Given the description of an element on the screen output the (x, y) to click on. 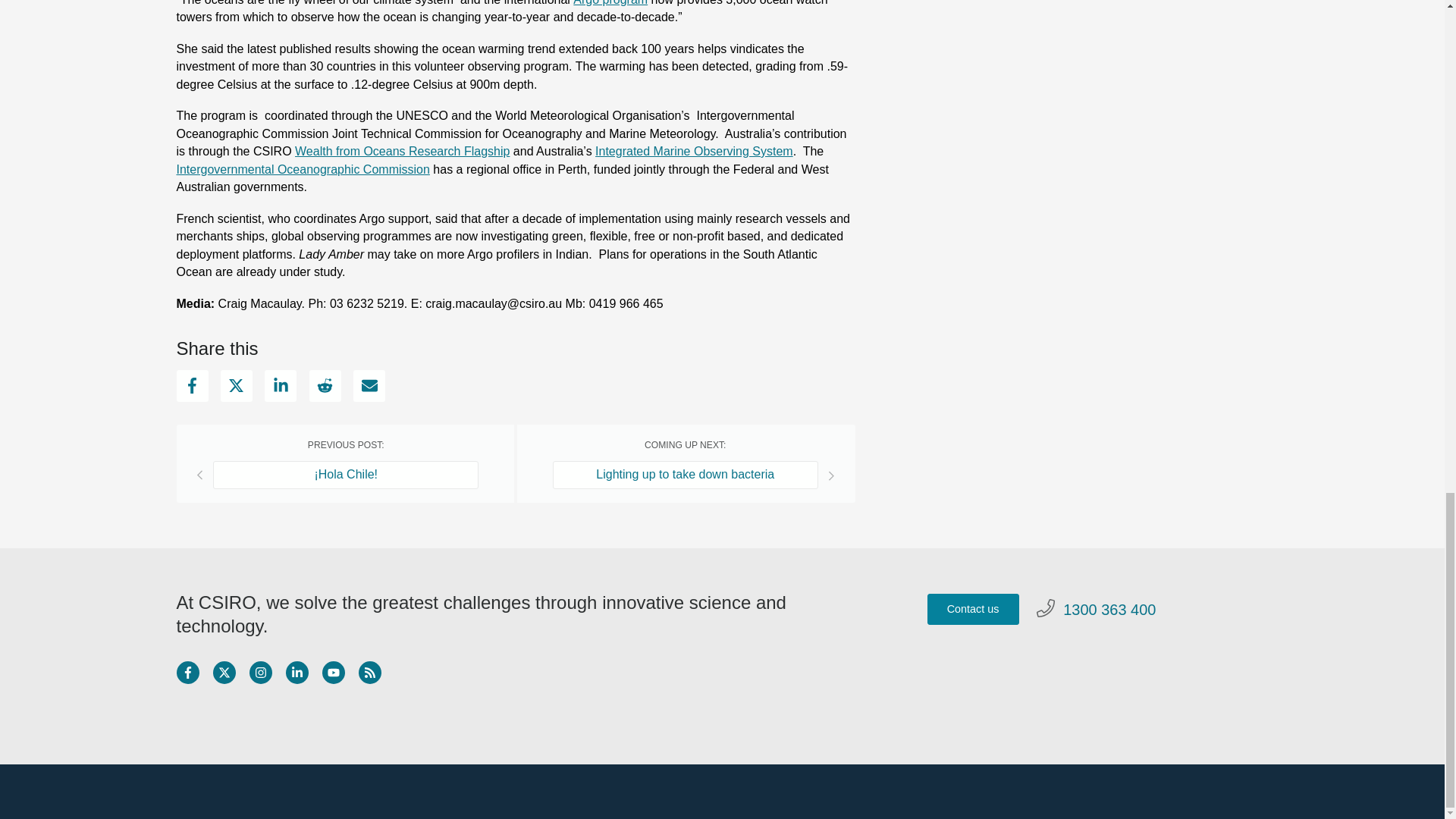
Intergovernmental Oceanographic Commission (302, 168)
Argo program (610, 2)
Integrated Marine Observing System (694, 151)
Wealth from Oceans Research Flagship (402, 151)
